Given the description of an element on the screen output the (x, y) to click on. 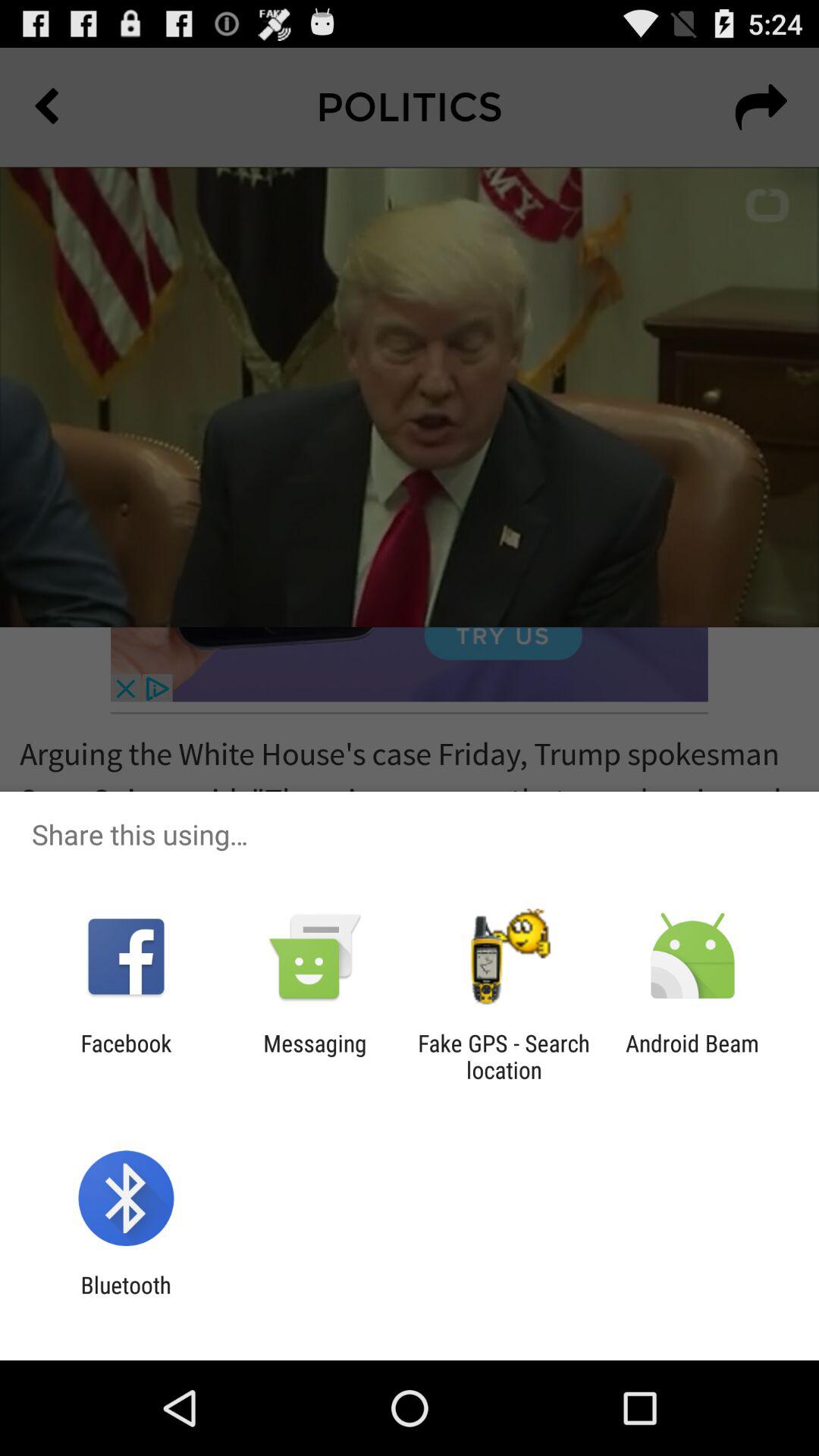
press bluetooth item (125, 1298)
